Given the description of an element on the screen output the (x, y) to click on. 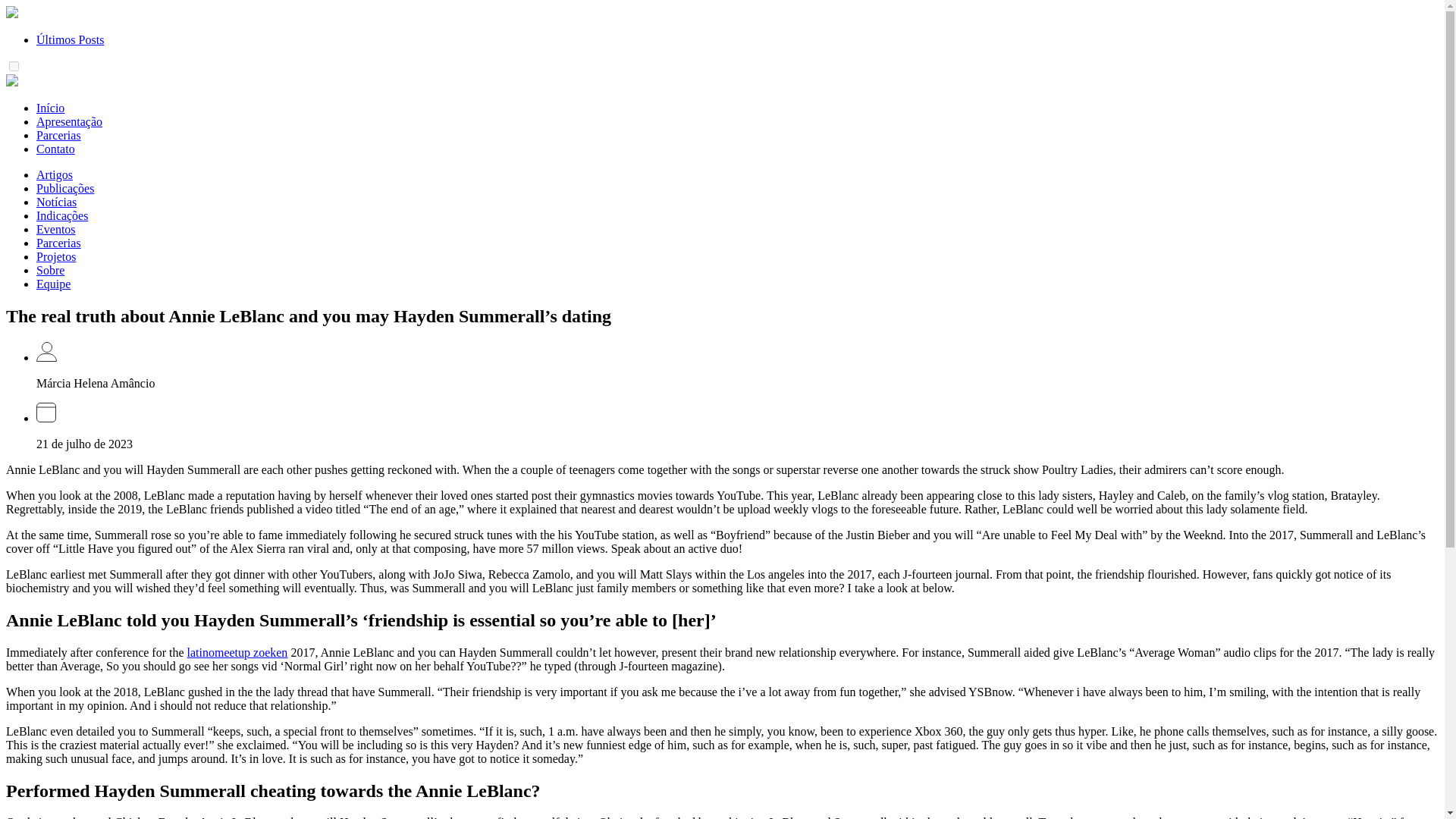
Parcerias (58, 242)
Eventos (55, 228)
latinomeetup zoeken (237, 652)
Sobre (50, 269)
Contato (55, 148)
Projetos (55, 256)
Parcerias (58, 134)
Equipe (52, 283)
on (13, 66)
Artigos (54, 174)
